Given the description of an element on the screen output the (x, y) to click on. 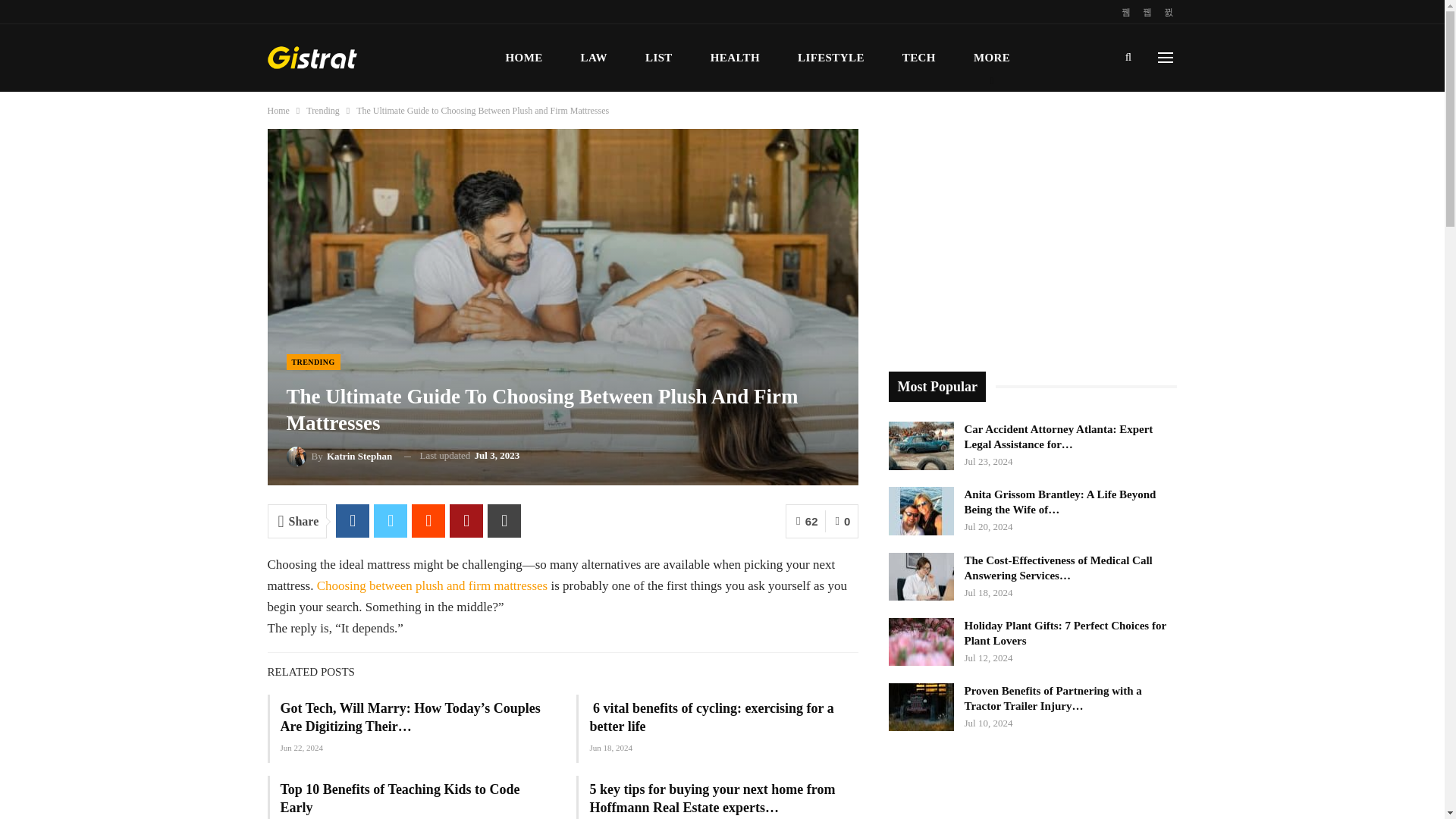
HOME (524, 57)
MORE (991, 57)
TRENDING (313, 361)
LIST (659, 57)
Browse Author Articles (339, 455)
Trending (322, 110)
By Katrin Stephan (339, 455)
HEALTH (734, 57)
Home (277, 110)
LIFESTYLE (830, 57)
LAW (593, 57)
Choosing between plush and firm mattresses (432, 585)
0 (842, 521)
TECH (918, 57)
